Given the description of an element on the screen output the (x, y) to click on. 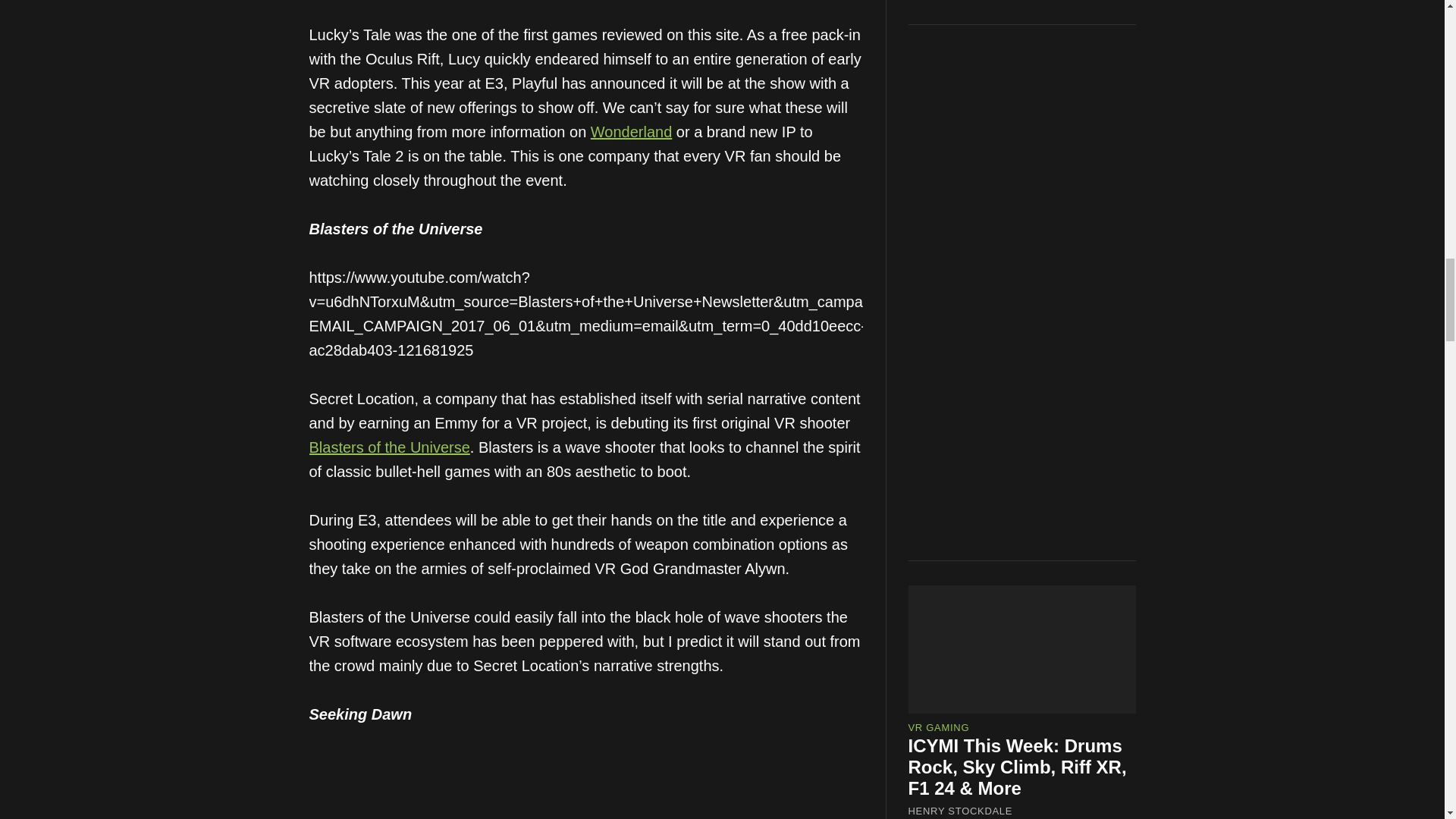
Wonderland (631, 131)
Seeking Dawn Alpha Teaser Trailer (585, 796)
Blasters of the Universe (389, 446)
HENRY STOCKDALE (960, 66)
